Given the description of an element on the screen output the (x, y) to click on. 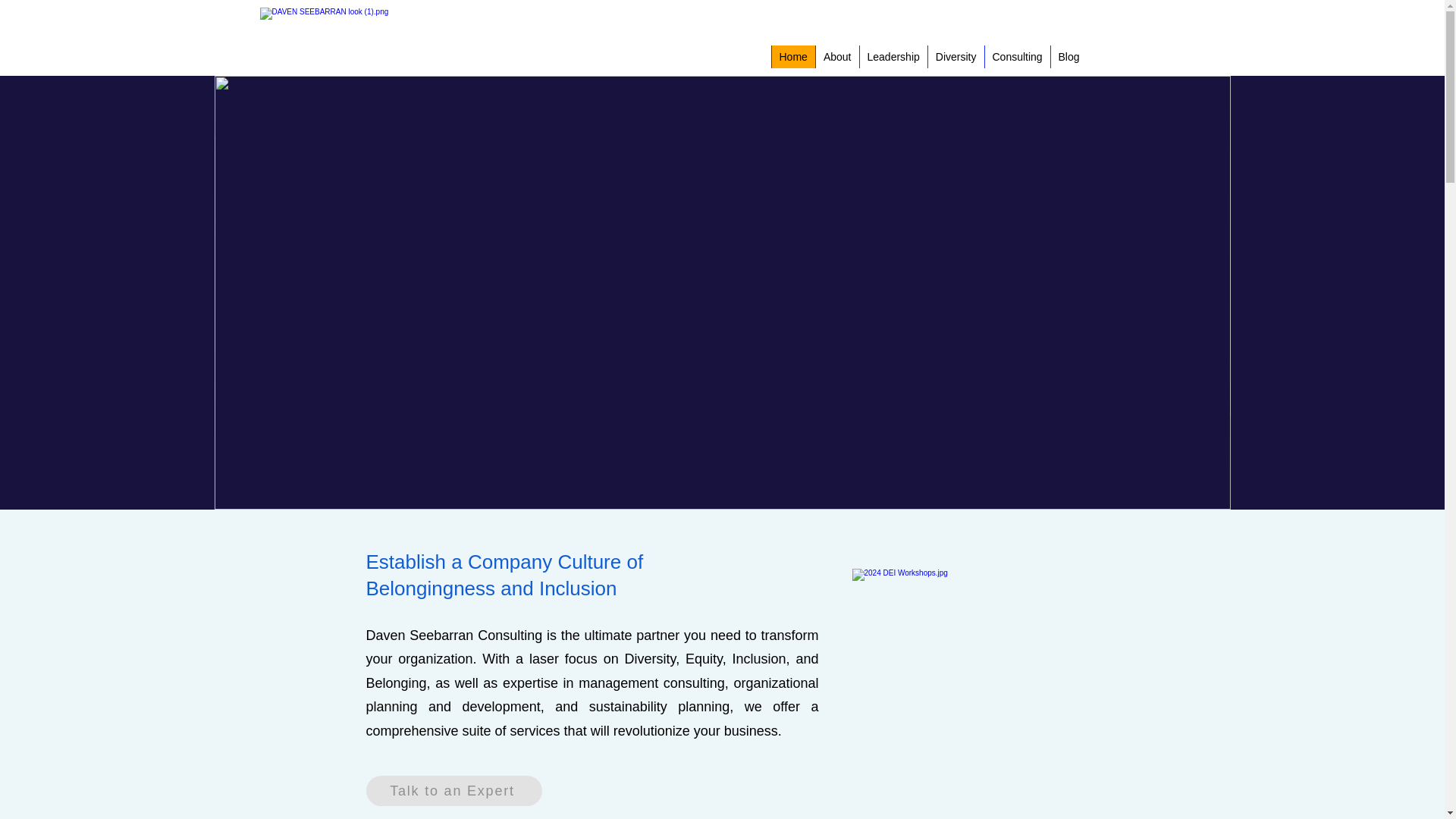
Consulting (1016, 56)
About (836, 56)
Talk to an Expert (453, 790)
Blog (1067, 56)
Leadership (892, 56)
Home (791, 56)
Diversity (955, 56)
